Given the description of an element on the screen output the (x, y) to click on. 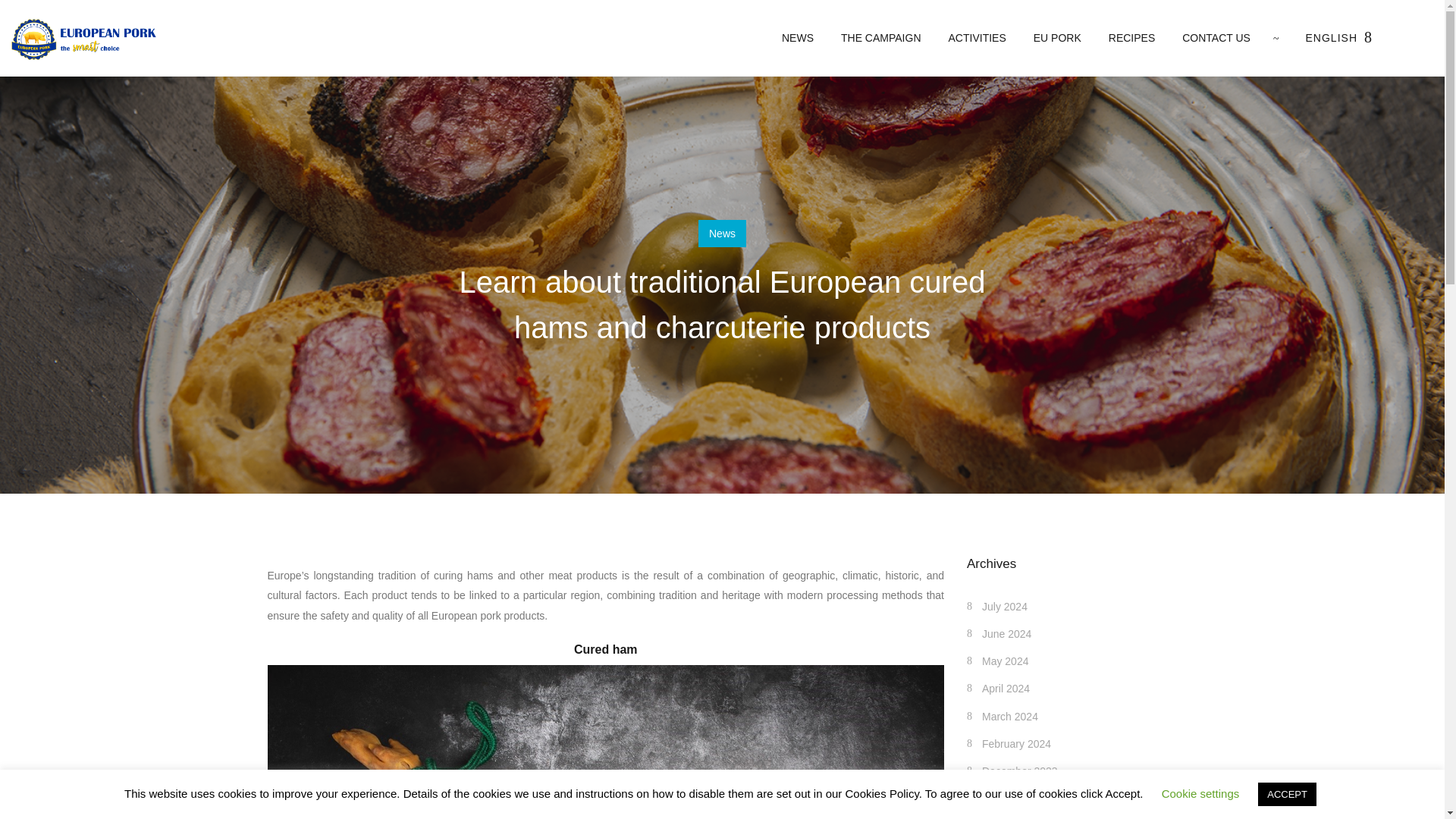
News (721, 233)
CONTACT US (1209, 38)
THE CAMPAIGN (880, 38)
RECIPES (1131, 38)
ENGLISH (1331, 37)
EU PORK (1057, 38)
ACTIVITIES (977, 38)
